Given the description of an element on the screen output the (x, y) to click on. 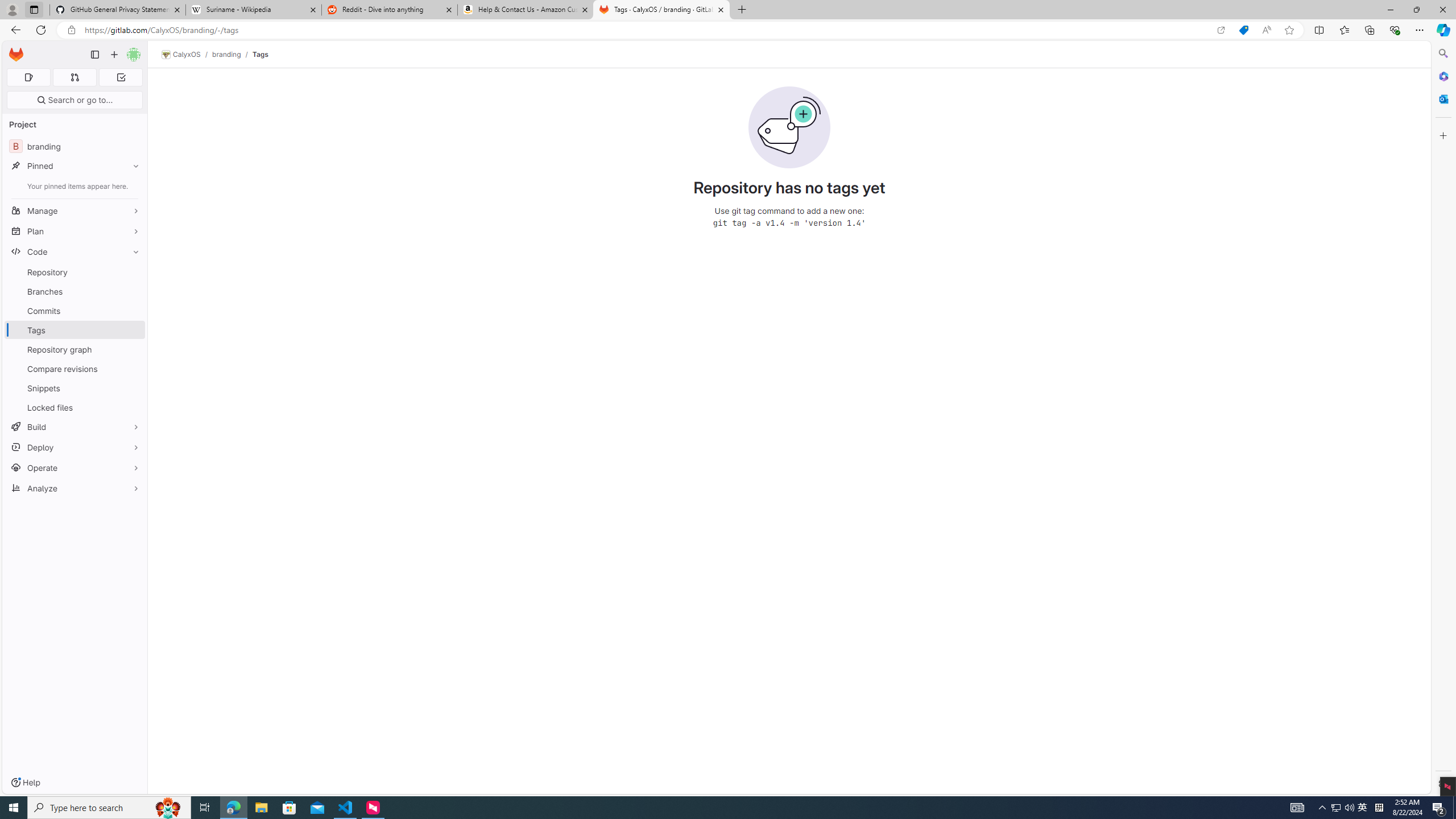
Tags (259, 53)
Open in app (1220, 29)
Compare revisions (74, 368)
Pin Compare revisions (132, 368)
Pinned (74, 165)
Plan (74, 230)
Repository (74, 271)
Build (74, 426)
Code (74, 251)
branding (226, 53)
Pin Commits (132, 310)
